Given the description of an element on the screen output the (x, y) to click on. 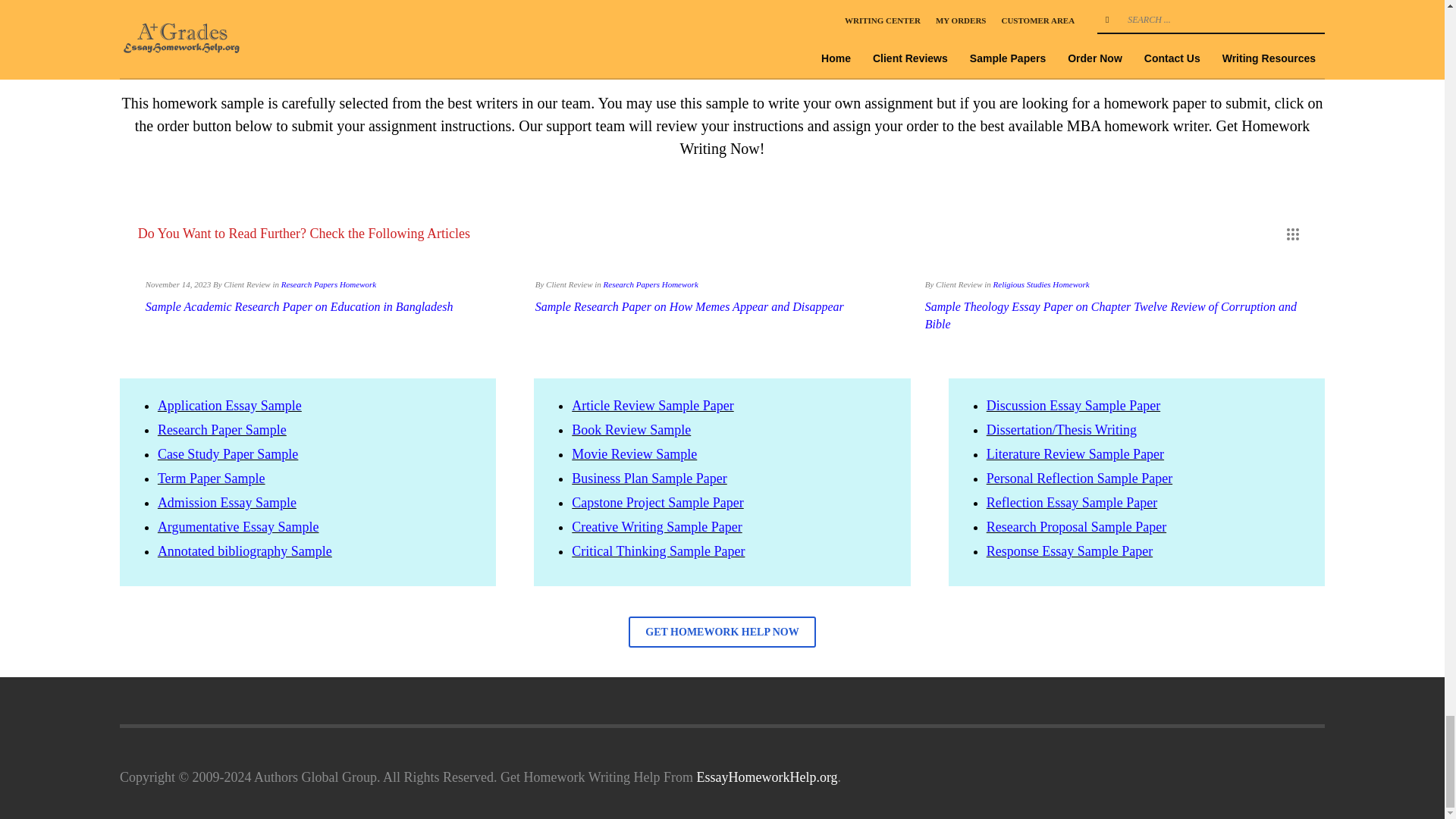
Argumentative Essay Sample (237, 526)
Application Essay Sample (229, 405)
Term Paper Sample (210, 478)
Case Study Paper Sample (227, 453)
Research Paper Sample (221, 429)
Business Plan Sample Paper (649, 478)
Sample Academic Research Paper on Education in Bangladesh (298, 306)
Research Papers Homework (328, 284)
View all posts in Religious Studies Homework (1040, 284)
Article Review Sample Paper (652, 405)
Religious Studies Homework (1040, 284)
Sample Research Paper on How Memes Appear and Disappear (689, 306)
Movie Review Sample (634, 453)
Research Papers Homework (651, 284)
